Given the description of an element on the screen output the (x, y) to click on. 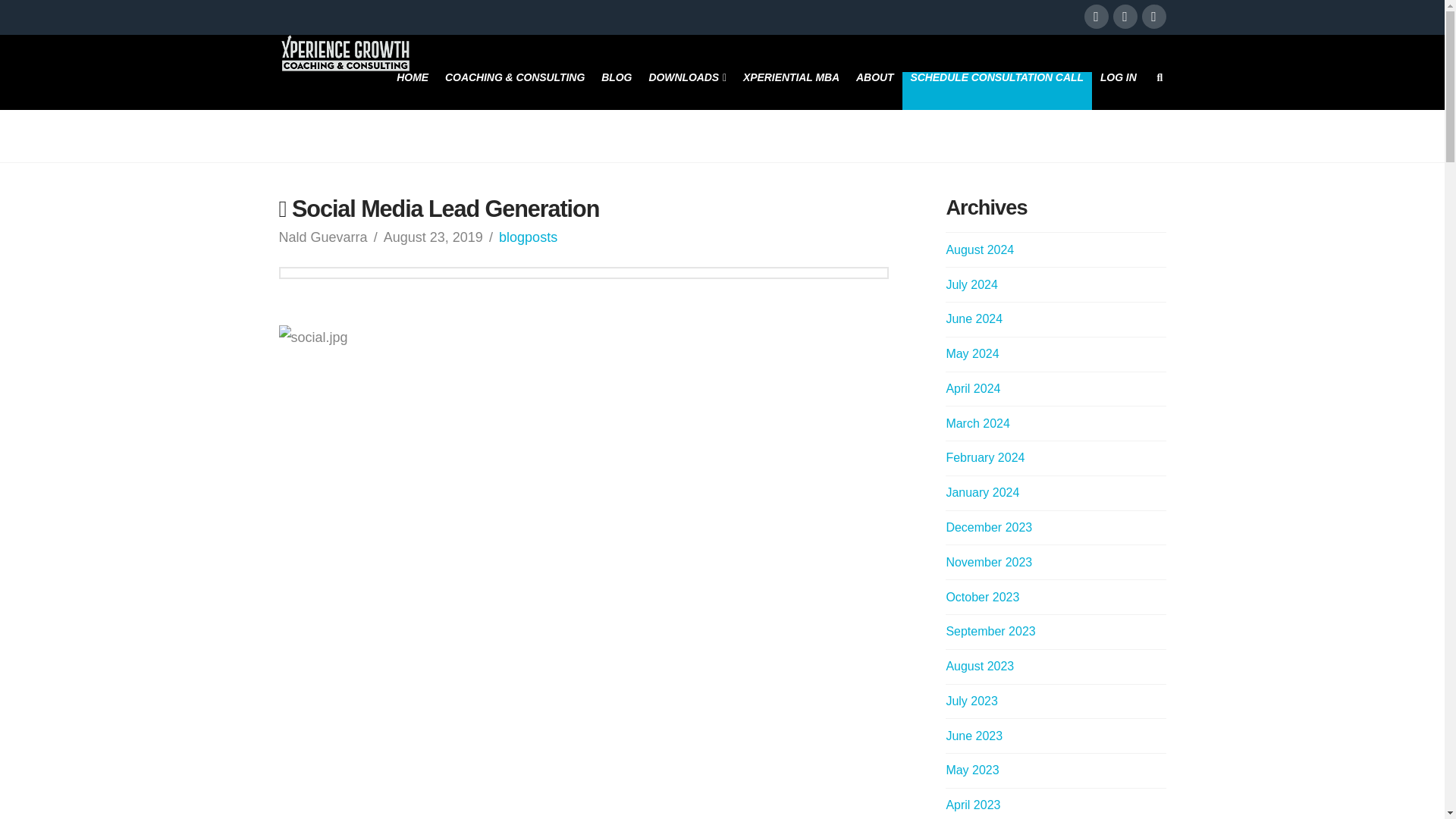
October 2023 (981, 596)
LOG IN (1118, 90)
July 2024 (970, 284)
February 2024 (984, 457)
HOME (412, 90)
March 2024 (977, 422)
September 2023 (989, 631)
December 2023 (988, 526)
ABOUT (874, 90)
XPERIENTIAL MBA (791, 90)
